Given the description of an element on the screen output the (x, y) to click on. 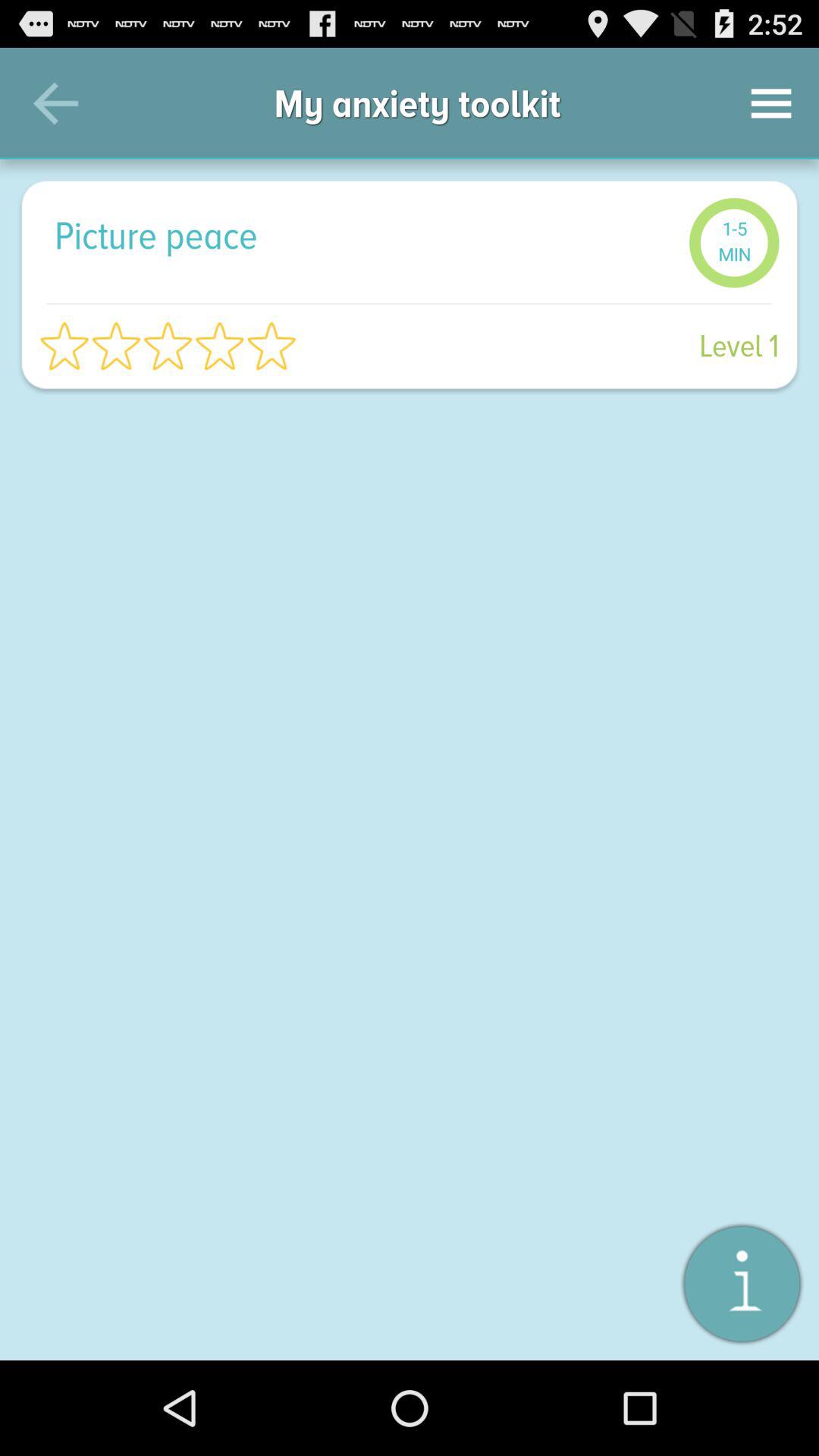
press item next to level 1 icon (167, 345)
